Given the description of an element on the screen output the (x, y) to click on. 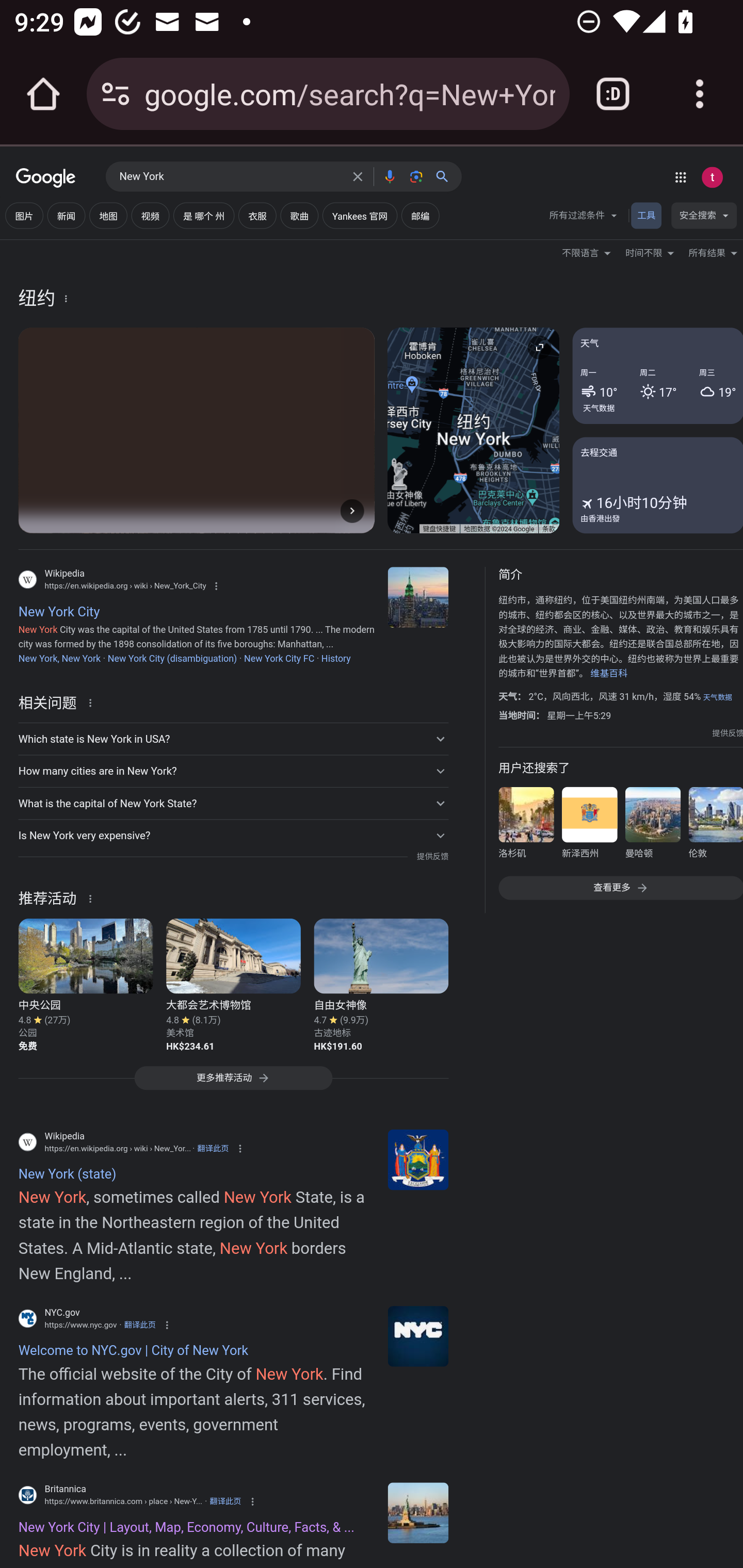
Open the home page (43, 93)
Connection is secure (115, 93)
Switch or close tabs (612, 93)
Customize and control Google Chrome (699, 93)
清除 (357, 176)
按语音搜索 (389, 176)
按图搜索 (415, 176)
搜索 (446, 176)
Google 应用 (680, 176)
Google 账号： test appium (testappium002@gmail.com) (712, 176)
Google (45, 178)
New York (229, 177)
图片 (24, 215)
新闻 (65, 215)
地图 (107, 215)
视频 (149, 215)
添加“是 哪个 州” 是 哪个 州 (203, 215)
添加“衣服” 衣服 (256, 215)
添加“歌曲” 歌曲 (299, 215)
添加“Yankees 官网” Yankees 官网 (359, 215)
添加“邮编” 邮编 (420, 215)
所有过滤条件 (583, 217)
工具 (646, 215)
安全搜索 (703, 217)
更多选项 (65, 298)
天气 周一 高温 10 度 周二 高温 17 度 周三 高温 19 度 (657, 375)
展开地图 (539, 346)
天气数据 (599, 407)
去程交通 16小时10分钟 乘坐飞机 由香港出發 (657, 484)
下一张图片 (352, 510)
New_York_City (417, 597)
New York, New York (58, 658)
New York City (disambiguation) (171, 658)
New York City FC (278, 658)
History (335, 658)
维基百科 (608, 672)
天气数据 (717, 697)
关于这条结果的详细信息 (93, 701)
Which state is New York in USA? (232, 738)
提供反馈 (727, 733)
How many cities are in New York? (232, 770)
洛杉矶 (526, 826)
新泽西州 (588, 826)
曼哈顿 (652, 826)
伦敦 (715, 826)
What is the capital of New York State? (232, 803)
Is New York very expensive? (232, 835)
提供反馈 (432, 856)
查看更多 查看更多 查看更多 (620, 887)
关于这条结果的详细信息 (93, 897)
更多推荐活动 (232, 1082)
New_York_(state) (417, 1159)
翻译此页 (212, 1148)
www.nyc (417, 1336)
翻译此页 (140, 1324)
New-York-City (417, 1511)
翻译此页 (225, 1501)
